Given the description of an element on the screen output the (x, y) to click on. 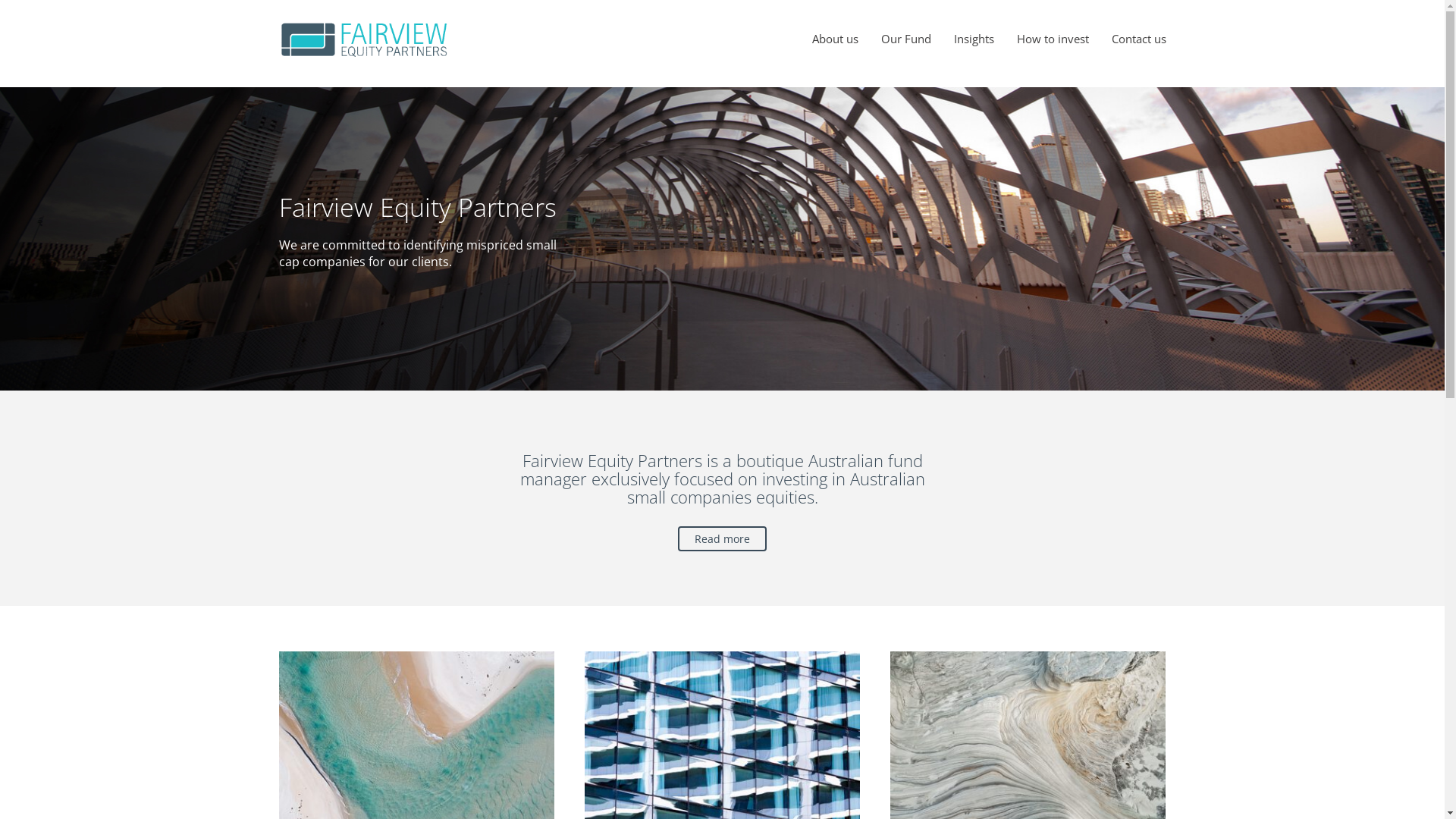
About us Element type: text (834, 38)
Read more Element type: text (721, 538)
Contact us Element type: text (1138, 38)
Insights Element type: text (973, 38)
How to invest Element type: text (1052, 38)
Our Fund Element type: text (906, 38)
